Given the description of an element on the screen output the (x, y) to click on. 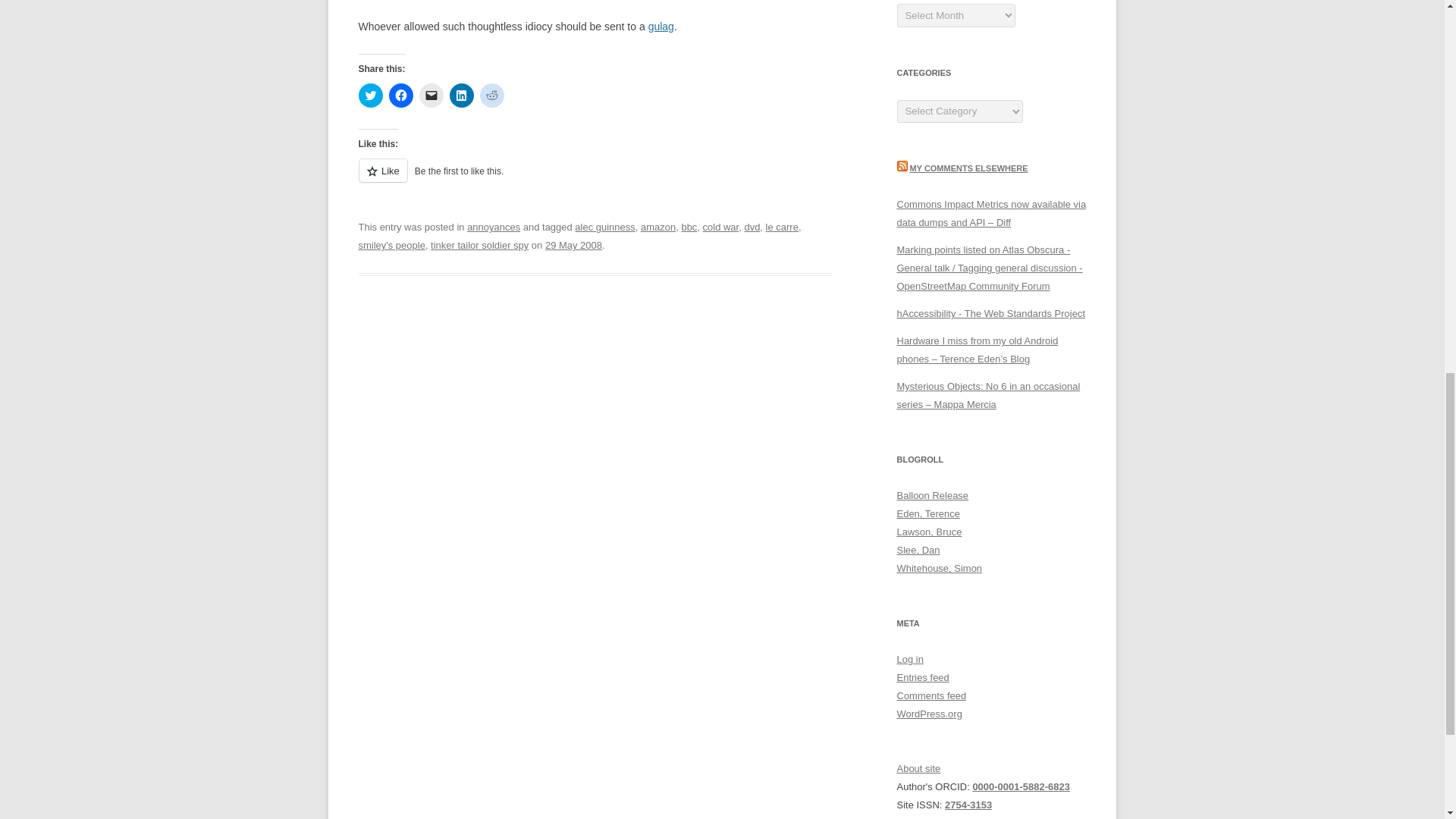
alec guinness (604, 226)
Click to share on Facebook (400, 95)
amazon (657, 226)
Click to share on Reddit (491, 95)
smiley's people (391, 244)
bbc (689, 226)
Click to share on LinkedIn (460, 95)
cold war (721, 226)
Open data and sweariness (938, 568)
Thinking of organising a balloon release? (932, 495)
le carre (781, 226)
dvd (752, 226)
Click to email a link to a friend (430, 95)
19:38 (573, 244)
